Given the description of an element on the screen output the (x, y) to click on. 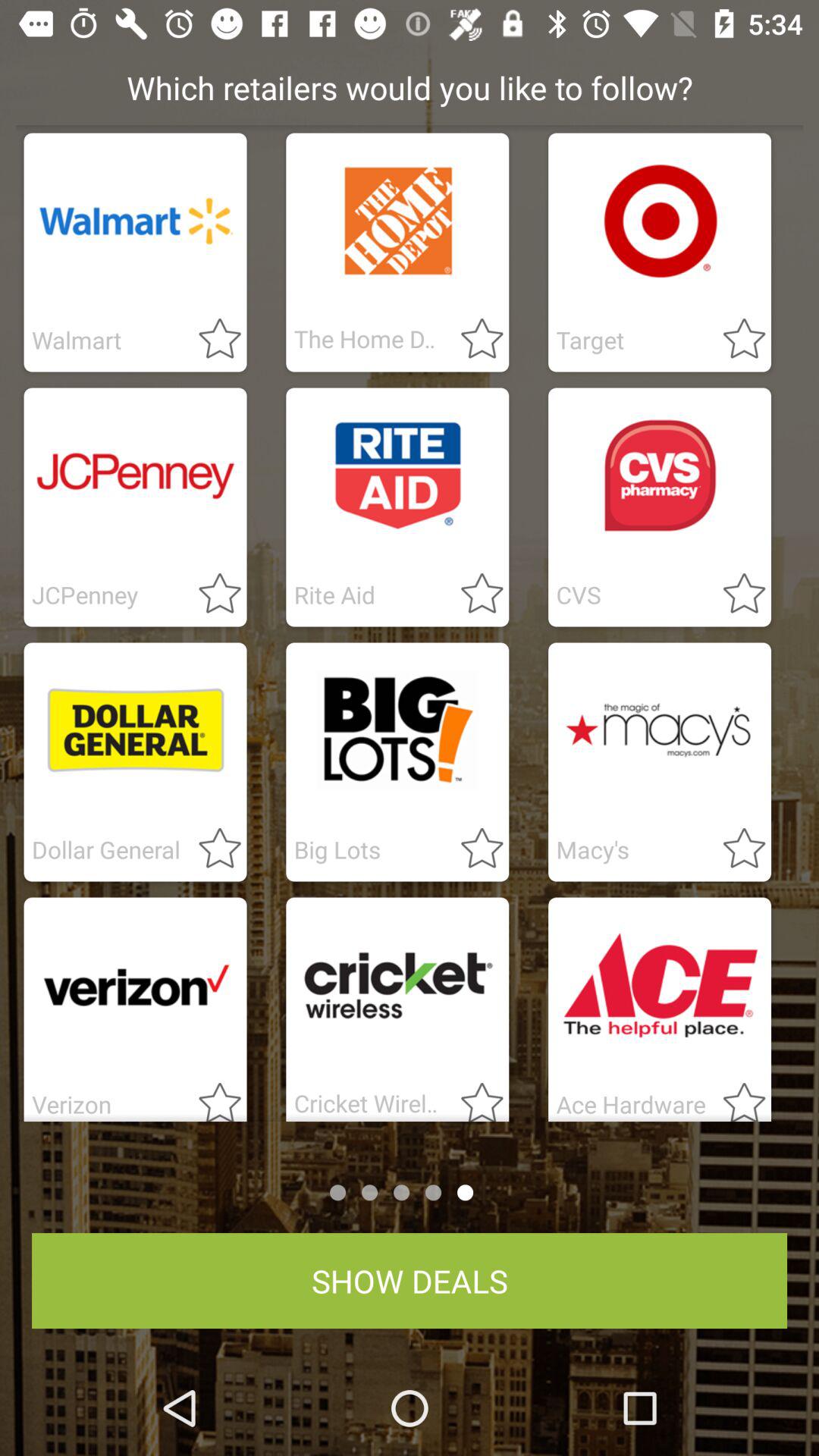
follow retailer (473, 339)
